Given the description of an element on the screen output the (x, y) to click on. 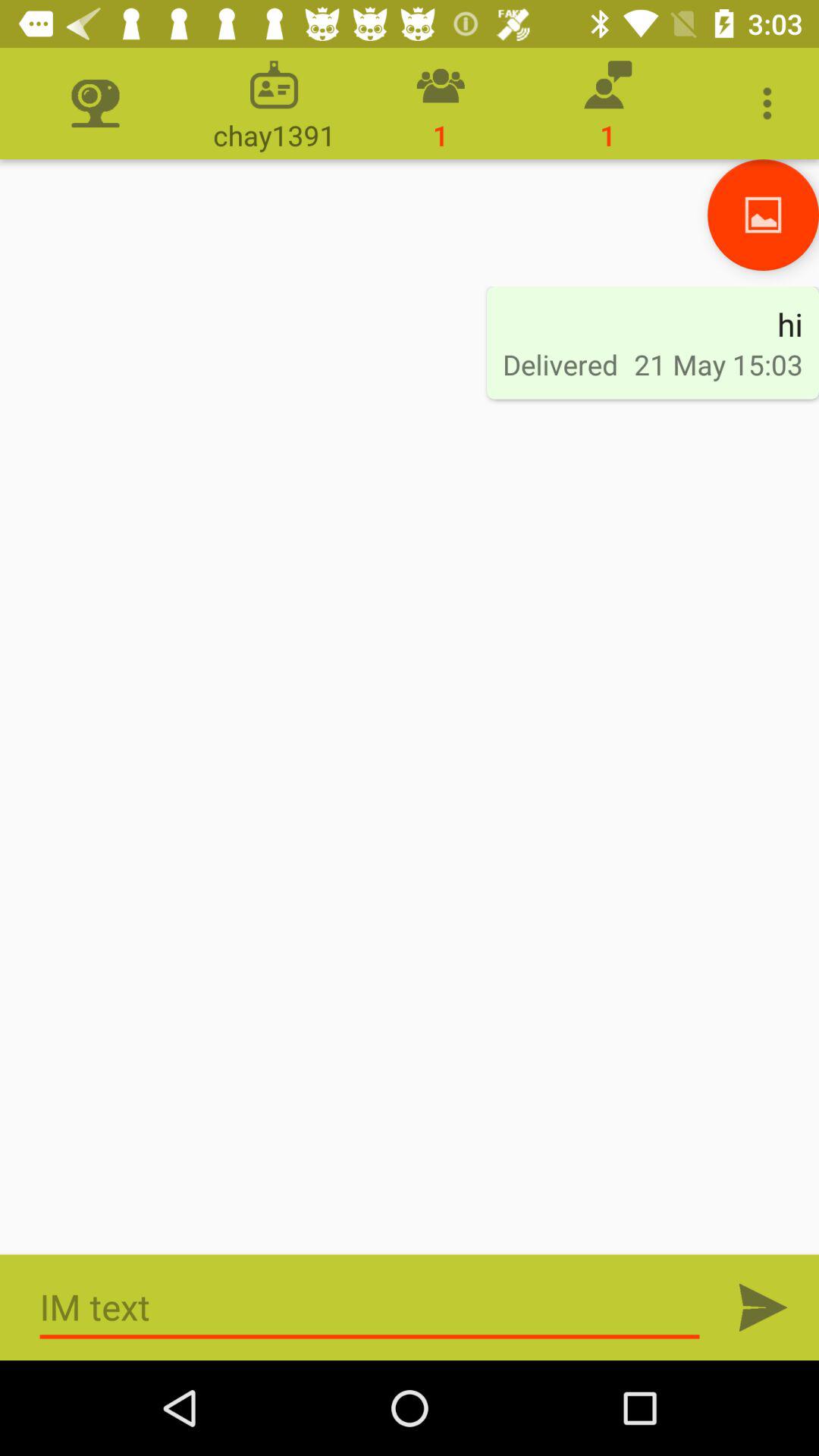
go to im text (763, 1307)
